Given the description of an element on the screen output the (x, y) to click on. 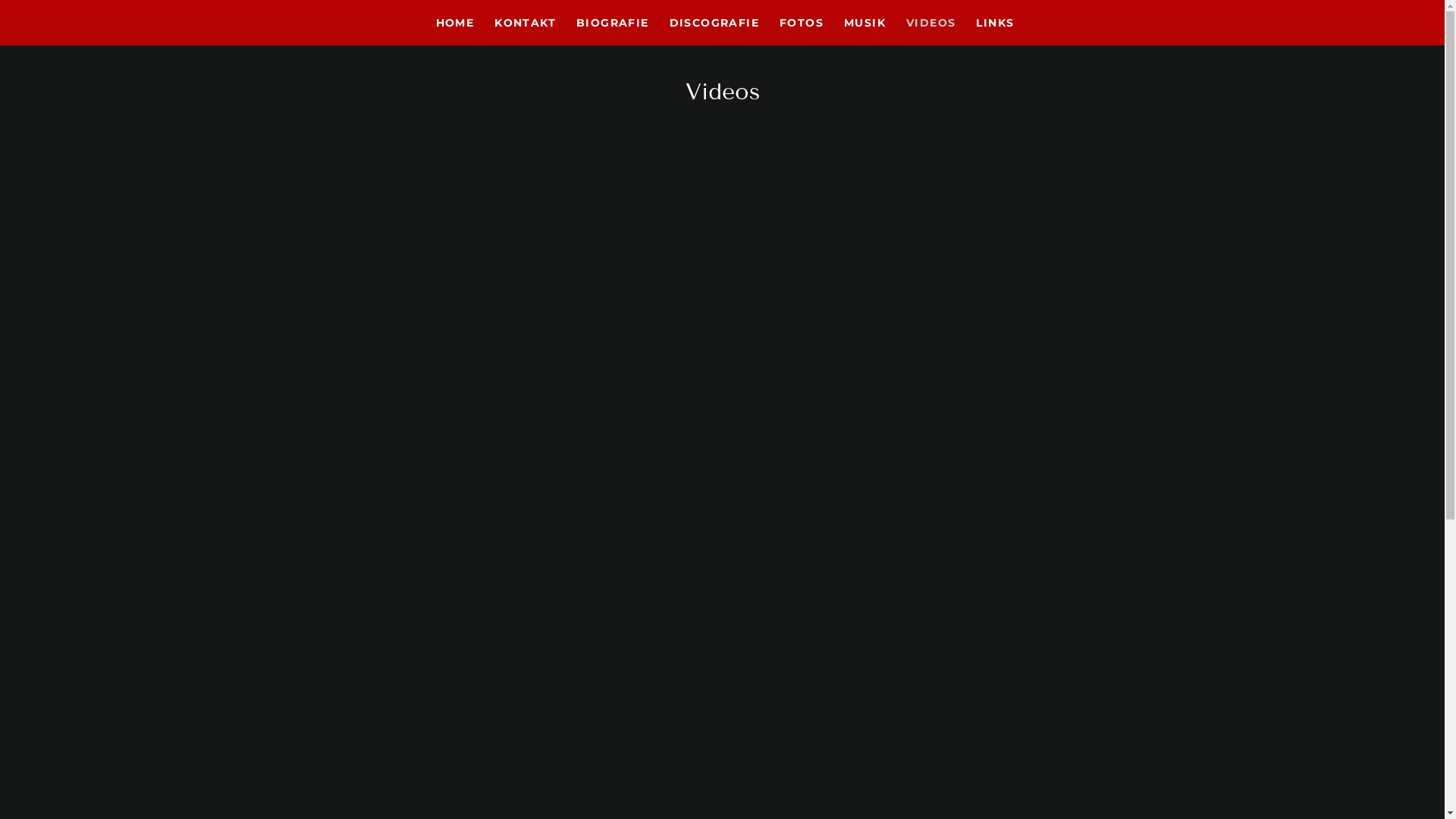
LINKS Element type: text (992, 22)
MUSIK Element type: text (862, 22)
FOTOS Element type: text (798, 22)
BIOGRAFIE Element type: text (609, 22)
DISCOGRAFIE Element type: text (711, 22)
KONTAKT Element type: text (522, 22)
HOME Element type: text (452, 22)
VIDEOS Element type: text (927, 22)
